Given the description of an element on the screen output the (x, y) to click on. 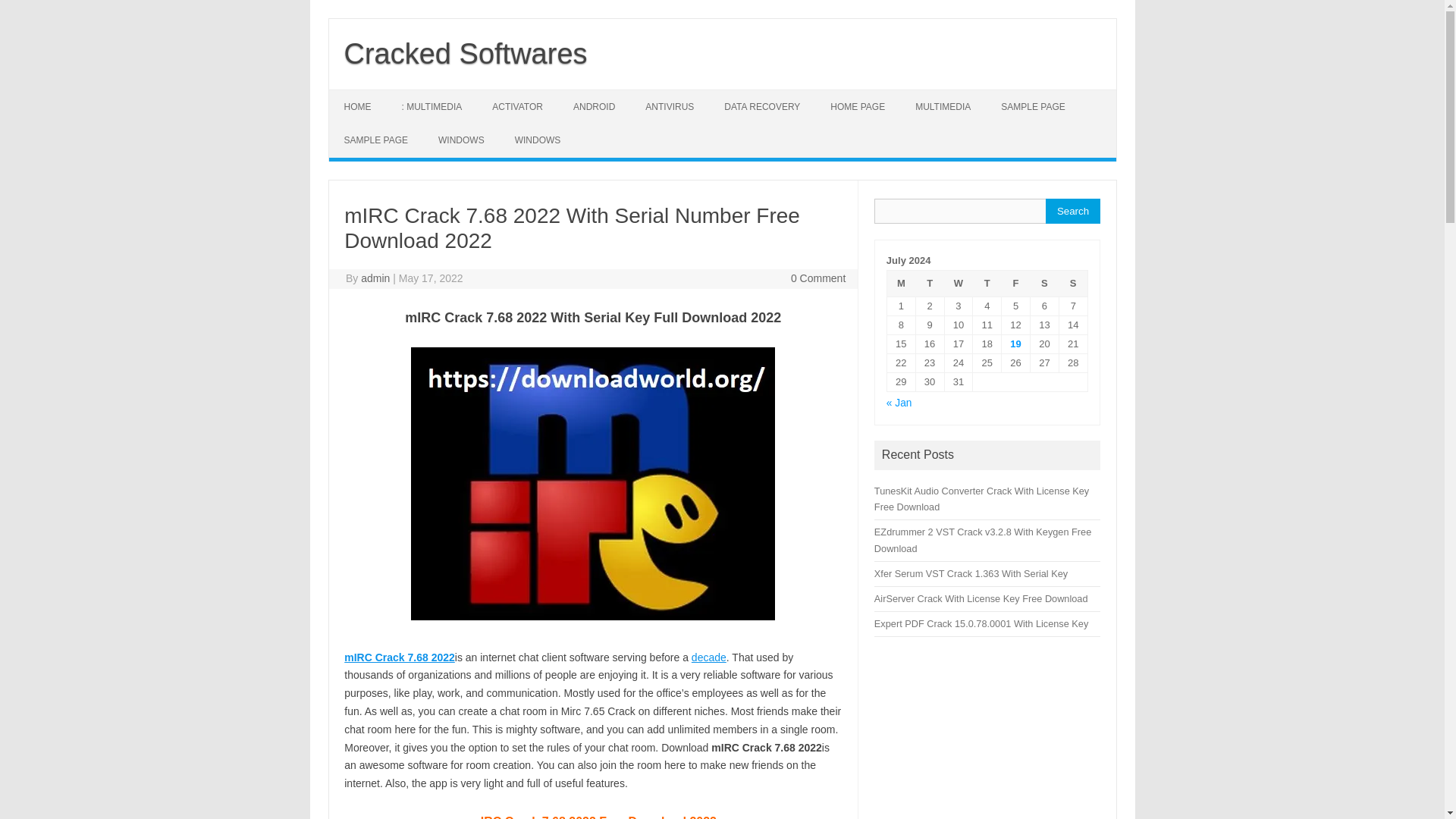
Friday (1015, 283)
mIRC Crack 7.68 2022 (398, 657)
Tuesday (929, 283)
WINDOWS (537, 140)
EZdrummer 2 VST Crack v3.2.8 With Keygen Free Download (982, 540)
WINDOWS (461, 140)
SAMPLE PAGE (376, 140)
: MULTIMEDIA (432, 106)
DATA RECOVERY (762, 106)
admin (375, 277)
Posts by admin (375, 277)
Cracked Softwares (465, 53)
0 Comment (817, 277)
